Given the description of an element on the screen output the (x, y) to click on. 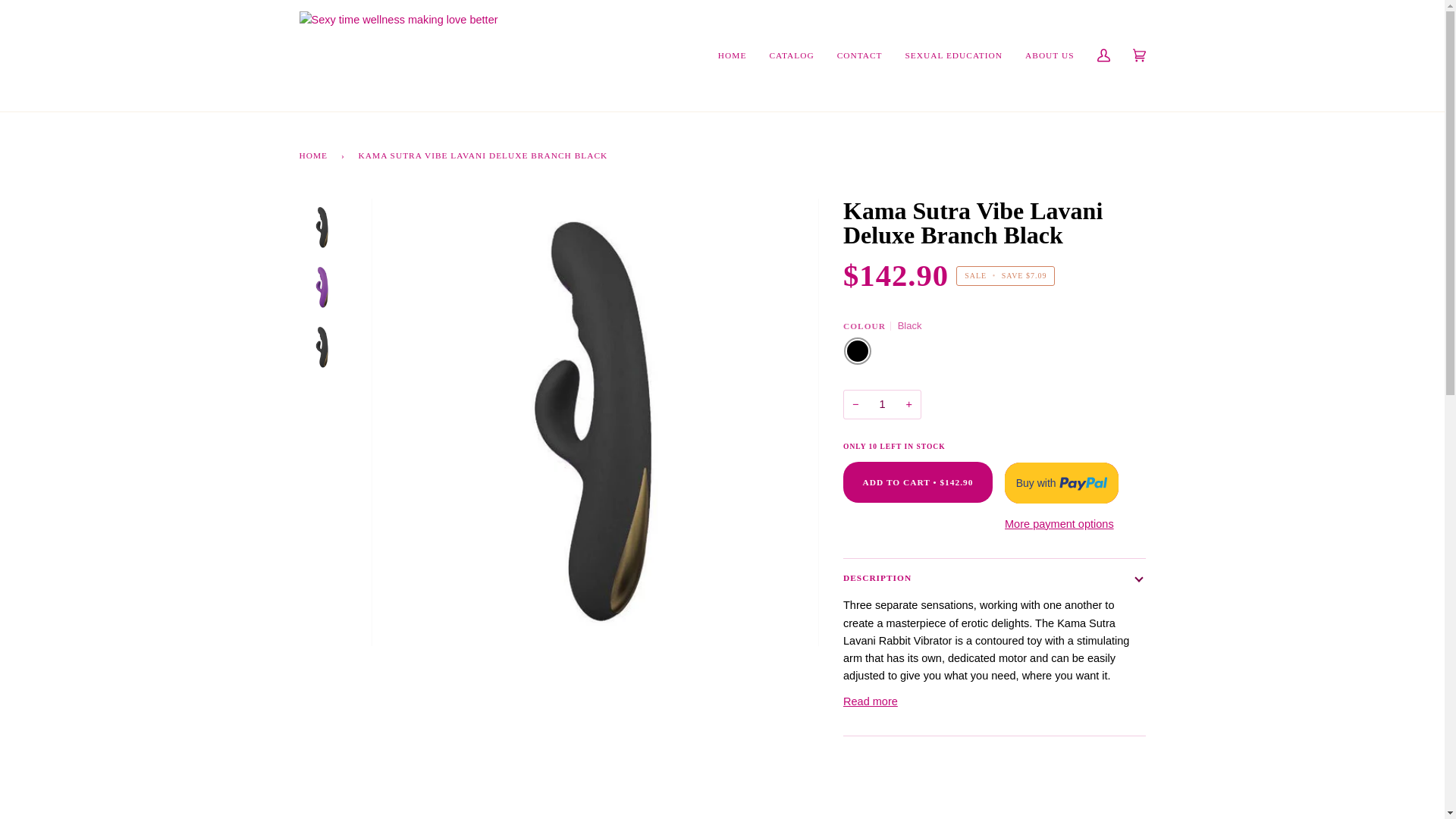
1 (882, 404)
More payment options (1061, 524)
Read more (870, 701)
HOME (315, 155)
Back to the frontpage (315, 155)
SEXUAL EDUCATION (953, 55)
DESCRIPTION (994, 577)
